Given the description of an element on the screen output the (x, y) to click on. 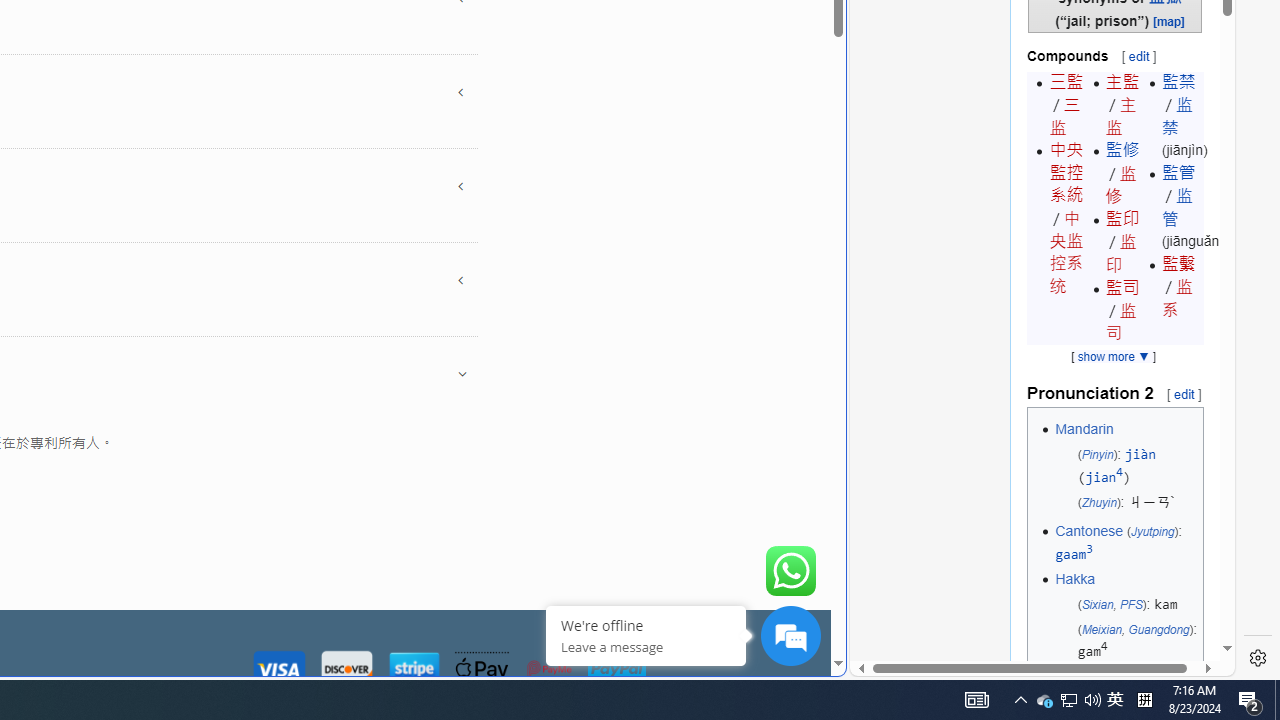
Guangdong (1158, 628)
PFS (1130, 603)
jian4 (1103, 477)
